Given the description of an element on the screen output the (x, y) to click on. 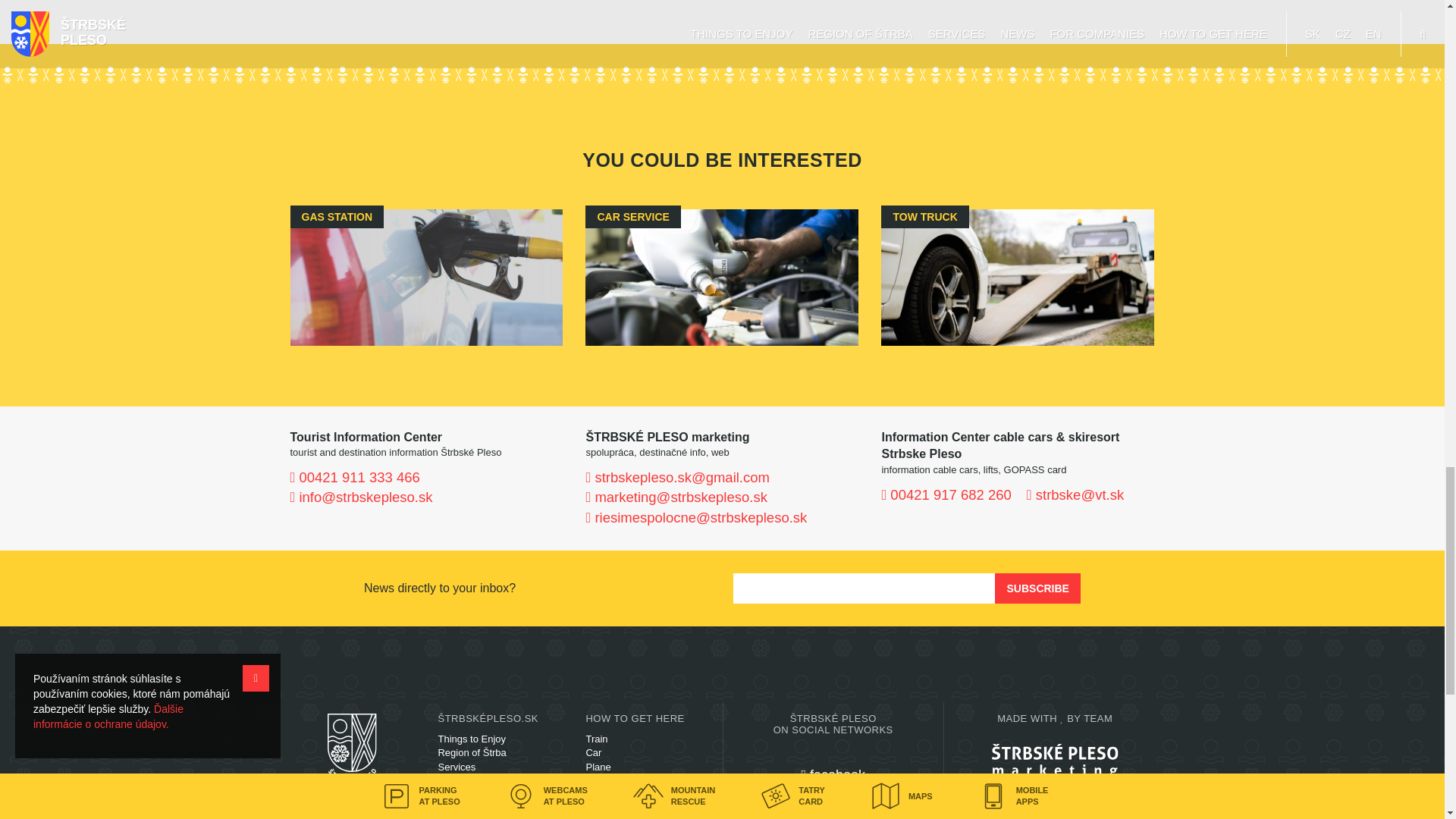
Services (457, 767)
CAR SERVICE (722, 277)
Things to Enjoy (471, 738)
SUBSCRIBE (1037, 588)
GAS STATION (425, 277)
Plane (597, 767)
TOW TRUCK (1017, 277)
Bus (593, 780)
Car (593, 752)
00421 911 333 466 (354, 477)
